Given the description of an element on the screen output the (x, y) to click on. 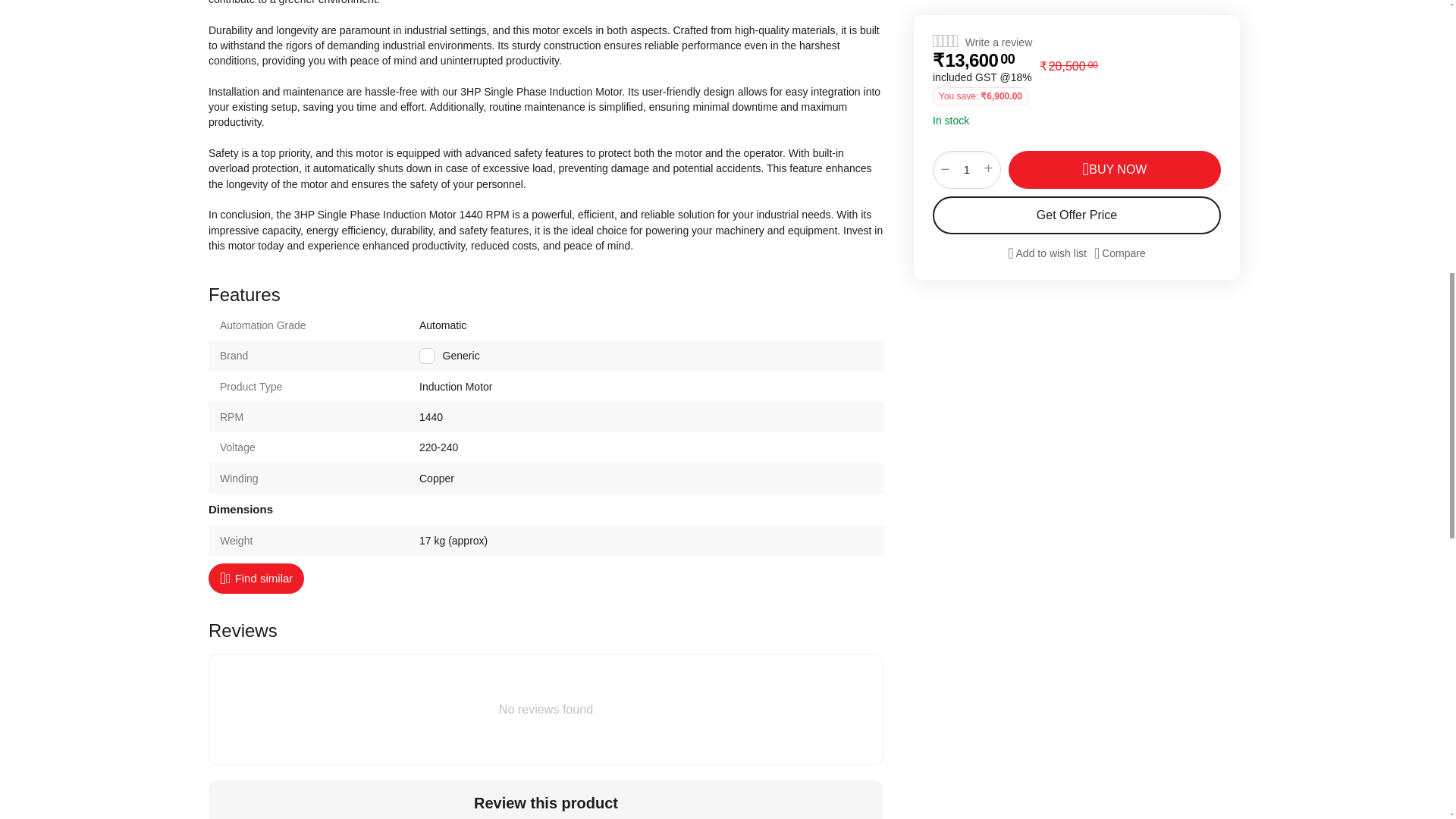
1206 (427, 355)
